Given the description of an element on the screen output the (x, y) to click on. 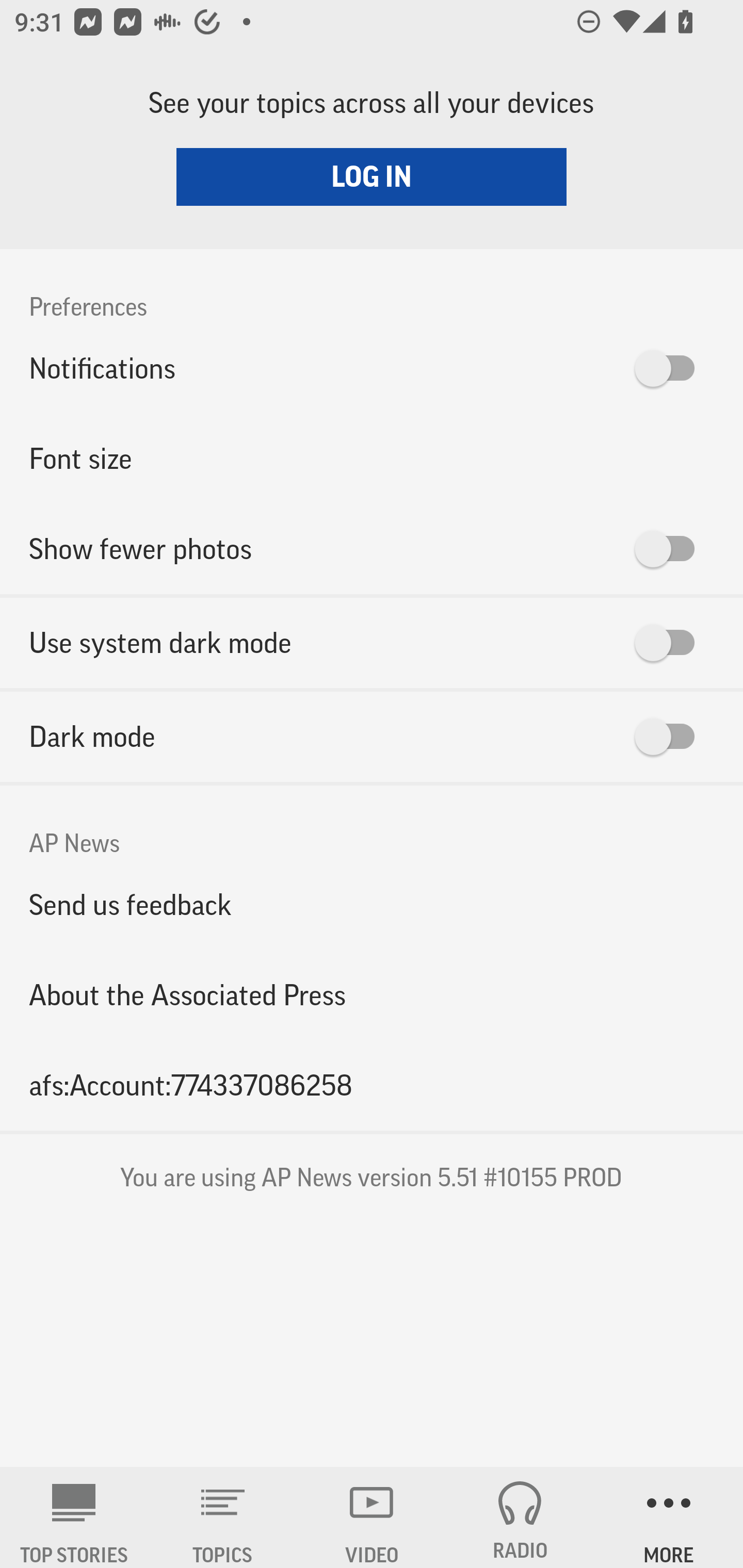
LOG IN (371, 176)
Notifications (371, 368)
Font size (371, 458)
Show fewer photos (371, 548)
Use system dark mode (371, 642)
Dark mode (371, 736)
Send us feedback (371, 904)
About the Associated Press (371, 994)
afs:Account:774337086258 (371, 1084)
AP News TOP STORIES (74, 1517)
TOPICS (222, 1517)
VIDEO (371, 1517)
RADIO (519, 1517)
MORE (668, 1517)
